Given the description of an element on the screen output the (x, y) to click on. 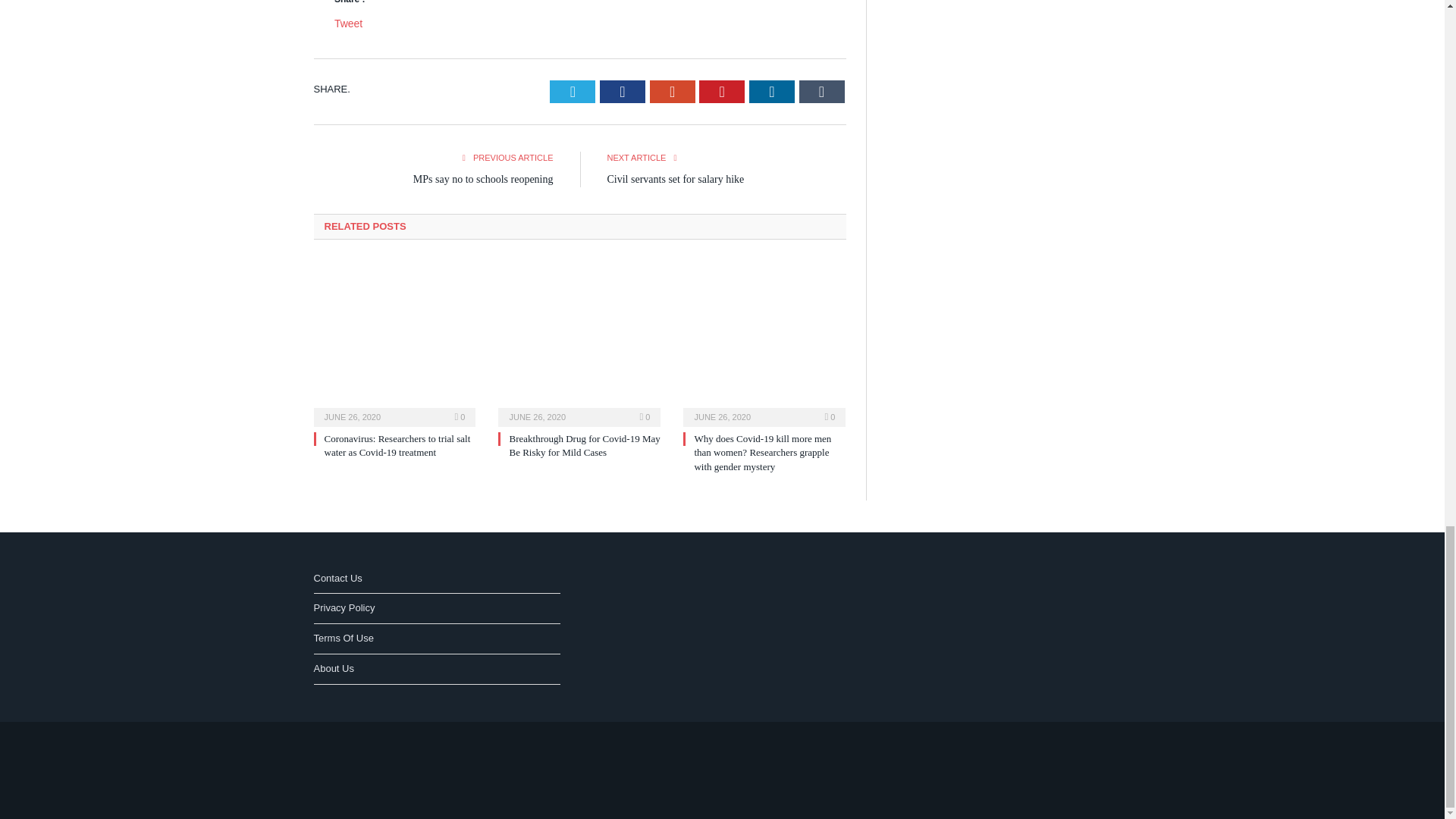
Share on Tumblr (821, 91)
Twitter (572, 91)
Pinterest (721, 91)
Share on LinkedIn (771, 91)
Share on Facebook (622, 91)
Share on Pinterest (721, 91)
Tweet It (572, 91)
Facebook (622, 91)
Tweet (348, 23)
